Given the description of an element on the screen output the (x, y) to click on. 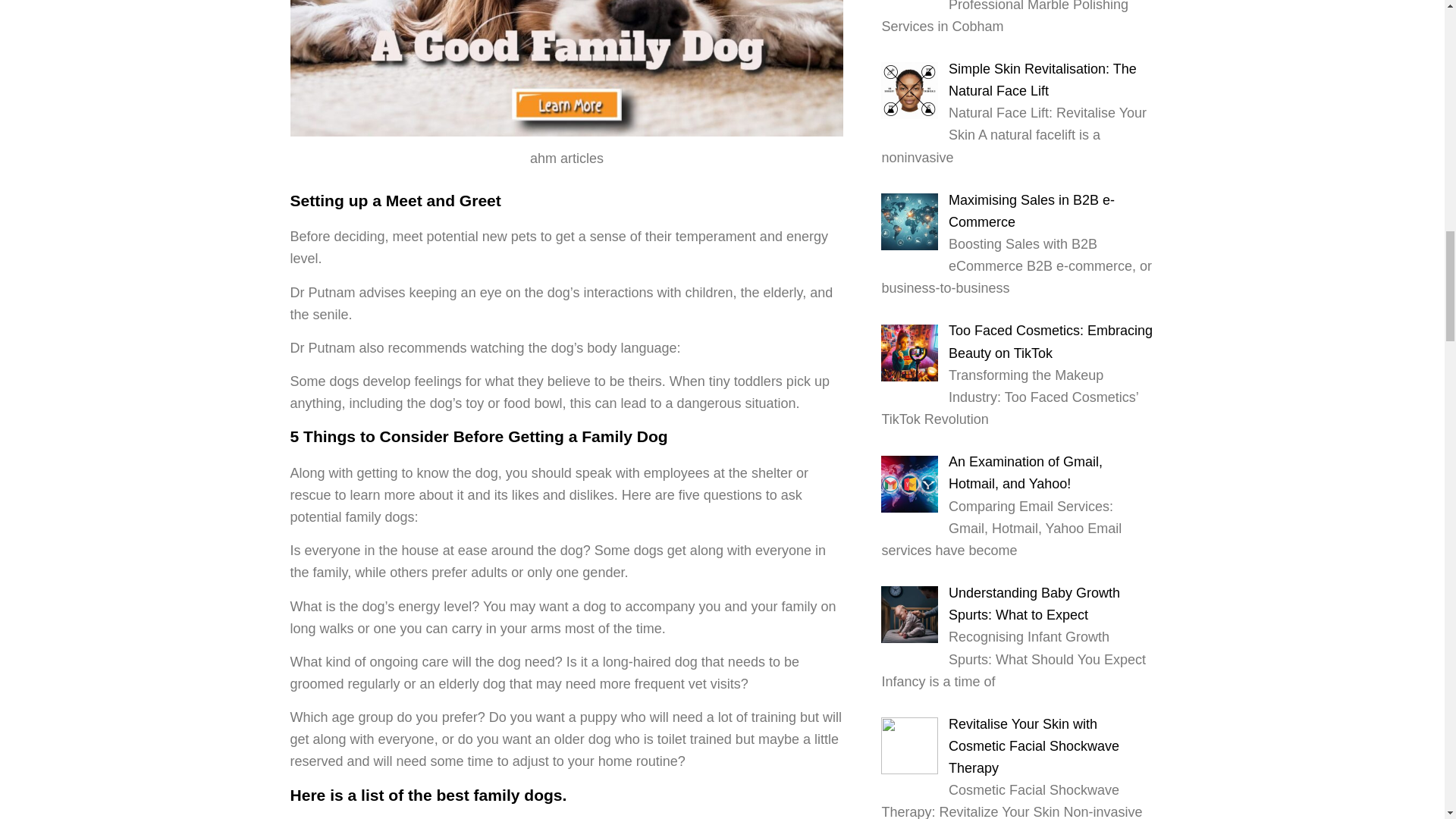
An Examination of Gmail, Hotmail, and Yahoo! (1025, 472)
Maximising Sales in B2B e-Commerce (1032, 211)
Understanding Baby Growth Spurts: What to Expect (1034, 603)
Revitalise Your Skin with Cosmetic Facial Shockwave Therapy (1034, 745)
Simple Skin Revitalisation: The Natural Face Lift (1043, 79)
Too Faced Cosmetics: Embracing Beauty on TikTok (1051, 341)
